Given the description of an element on the screen output the (x, y) to click on. 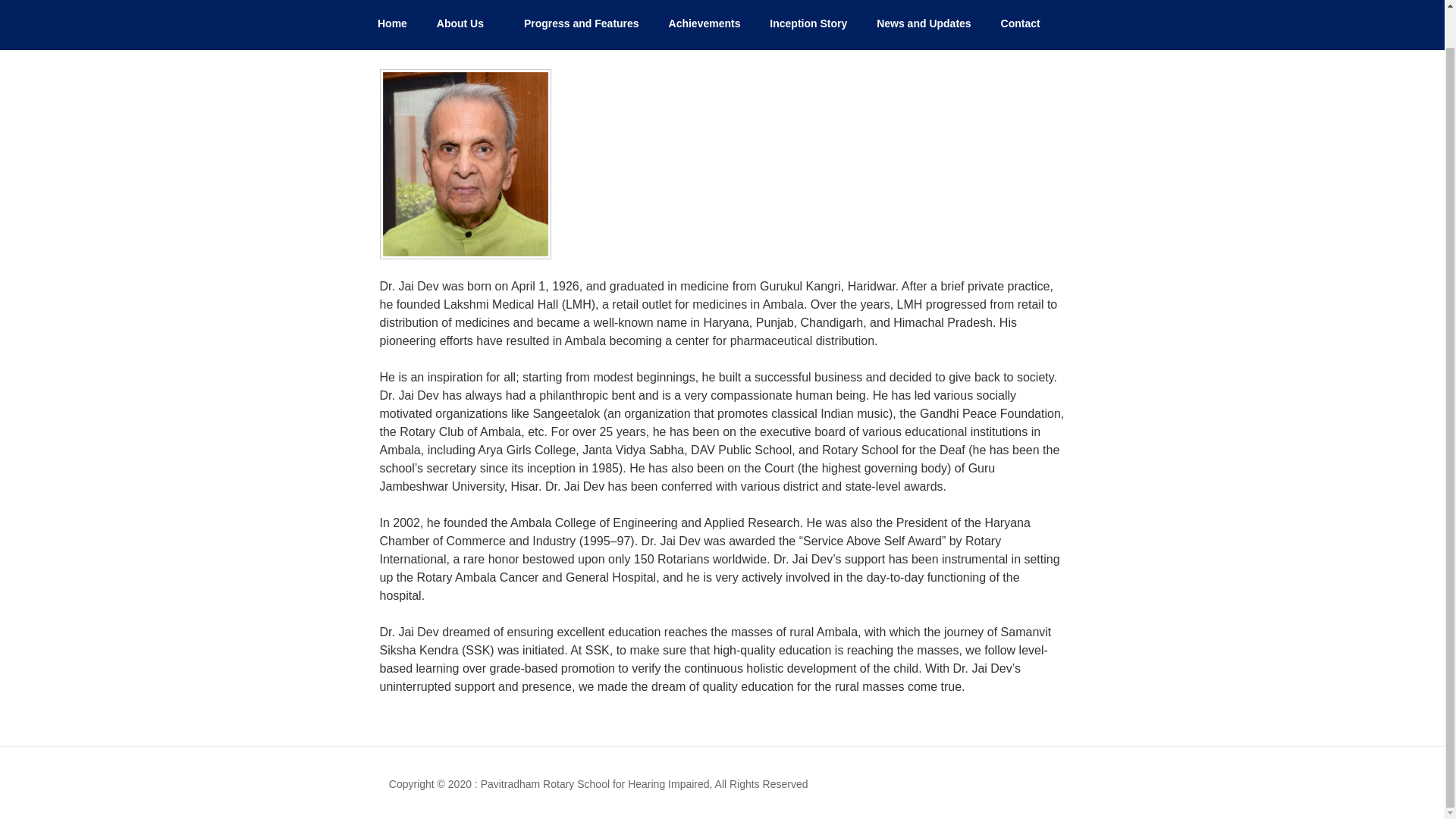
Achievements (704, 22)
Inception Story (808, 22)
Contact (1019, 22)
Home (392, 22)
Progress and Features (581, 22)
News and Updates (923, 22)
About Us (464, 22)
